Given the description of an element on the screen output the (x, y) to click on. 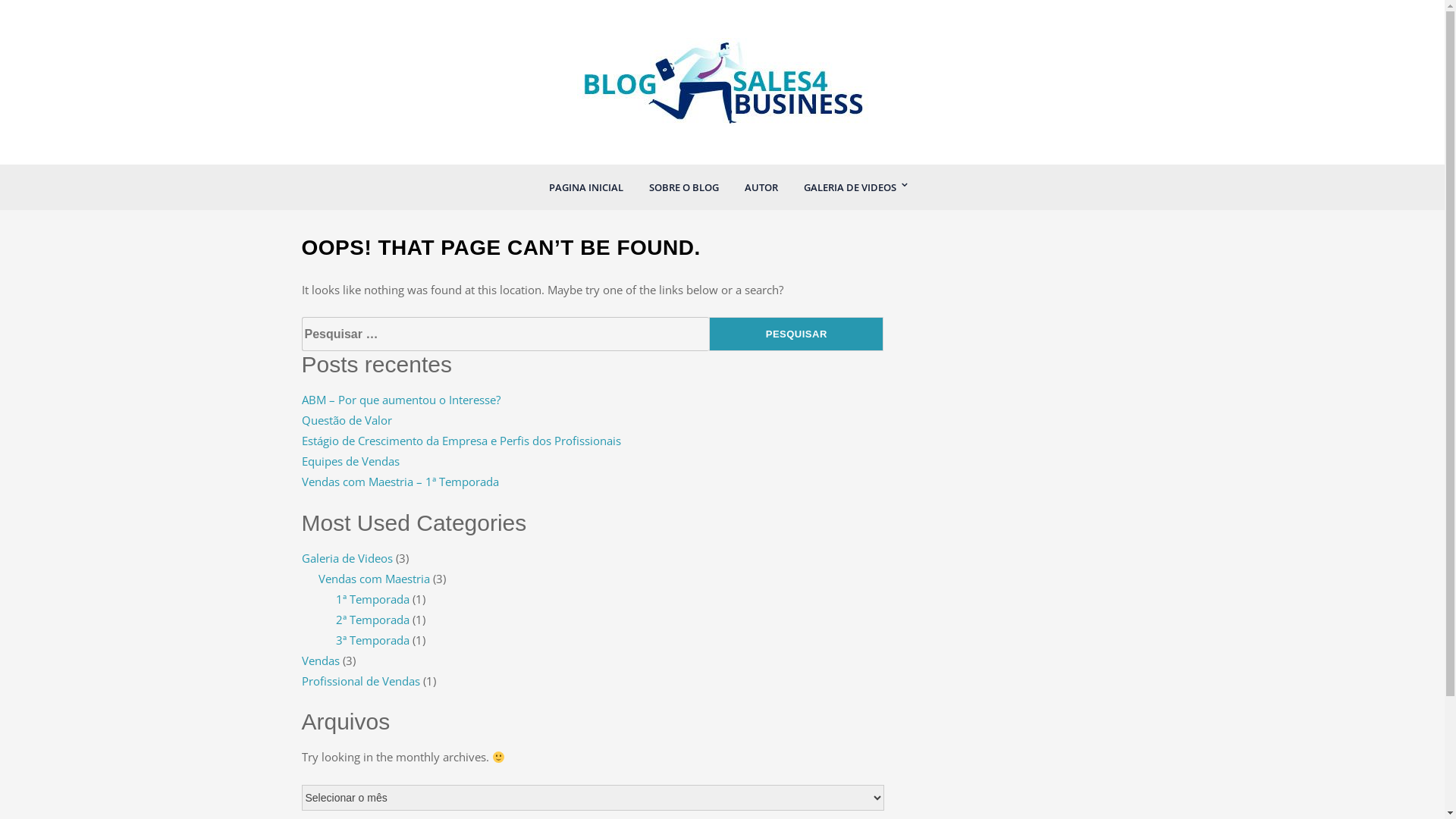
Vendas Element type: text (320, 660)
Equipes de Vendas Element type: text (350, 460)
Galeria de Videos Element type: text (346, 557)
SOBRE O BLOG Element type: text (683, 187)
PAGINA INICIAL Element type: text (584, 187)
GALERIA DE VIDEOS Element type: text (848, 187)
AUTOR Element type: text (760, 187)
Vendas com Maestria Element type: text (373, 578)
Pesquisar Element type: text (796, 333)
Profissional de Vendas Element type: text (360, 680)
